Given the description of an element on the screen output the (x, y) to click on. 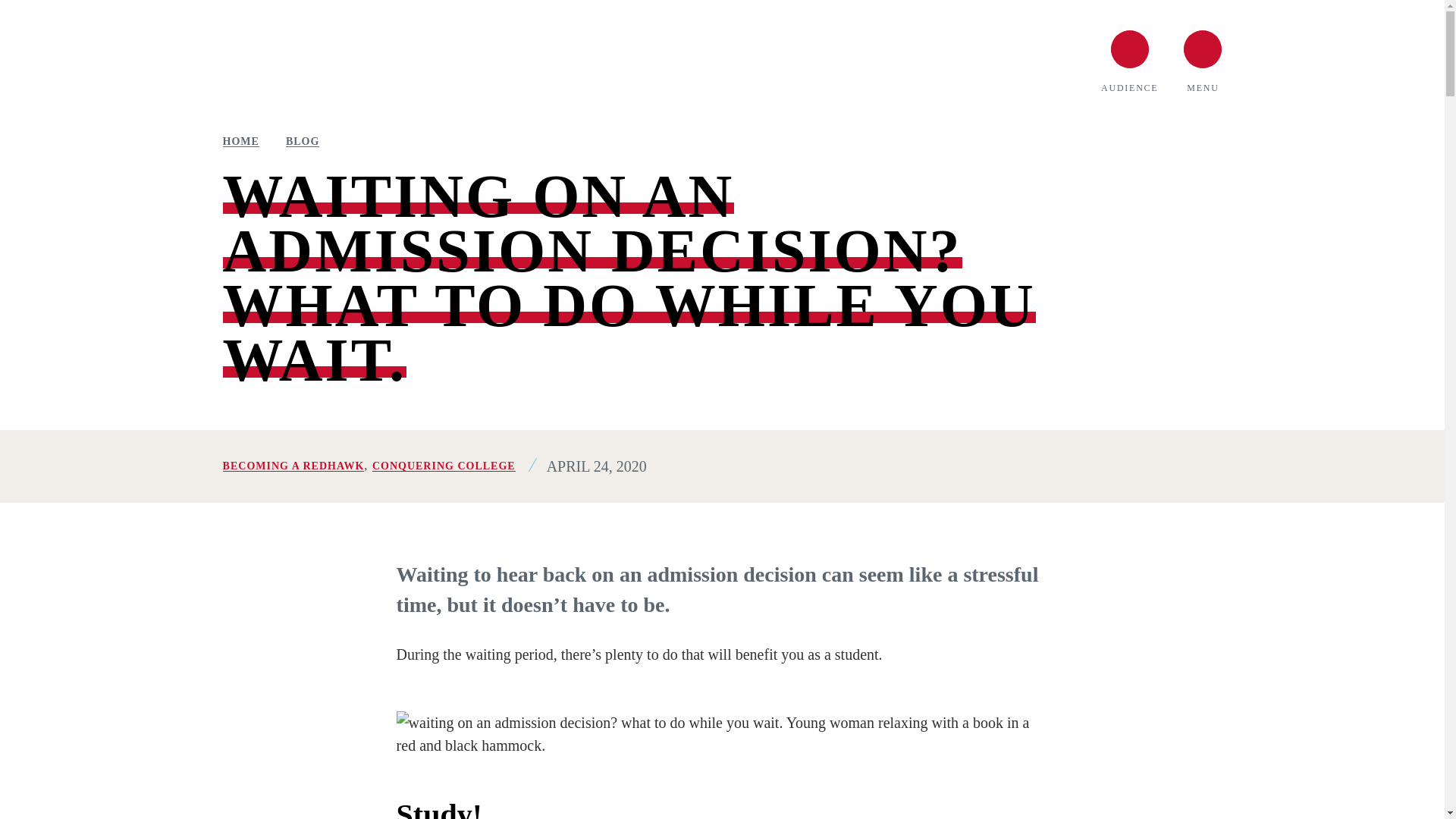
Southeast Missouri State University (386, 61)
HOME (240, 141)
CONQUERING COLLEGE (443, 465)
AUDIENCE (1128, 61)
BECOMING A REDHAWK (293, 465)
BLOG (301, 141)
